Given the description of an element on the screen output the (x, y) to click on. 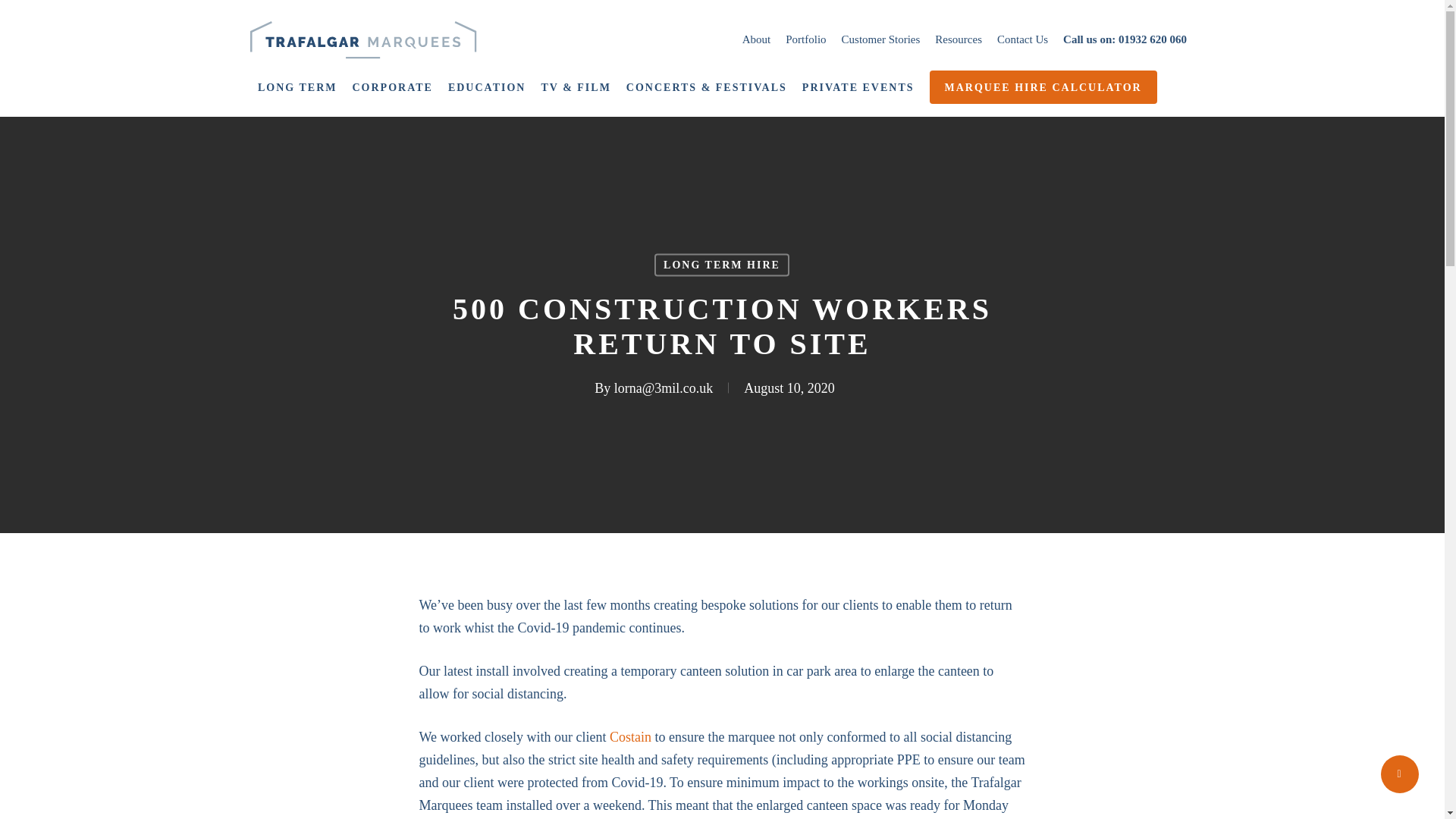
Portfolio (805, 39)
About (756, 39)
EDUCATION (486, 87)
Customer Stories (880, 39)
LONG TERM (296, 87)
Costain (630, 736)
MARQUEE HIRE CALCULATOR (1043, 88)
PRIVATE EVENTS (858, 87)
Contact Us (1022, 39)
CORPORATE (392, 87)
